Given the description of an element on the screen output the (x, y) to click on. 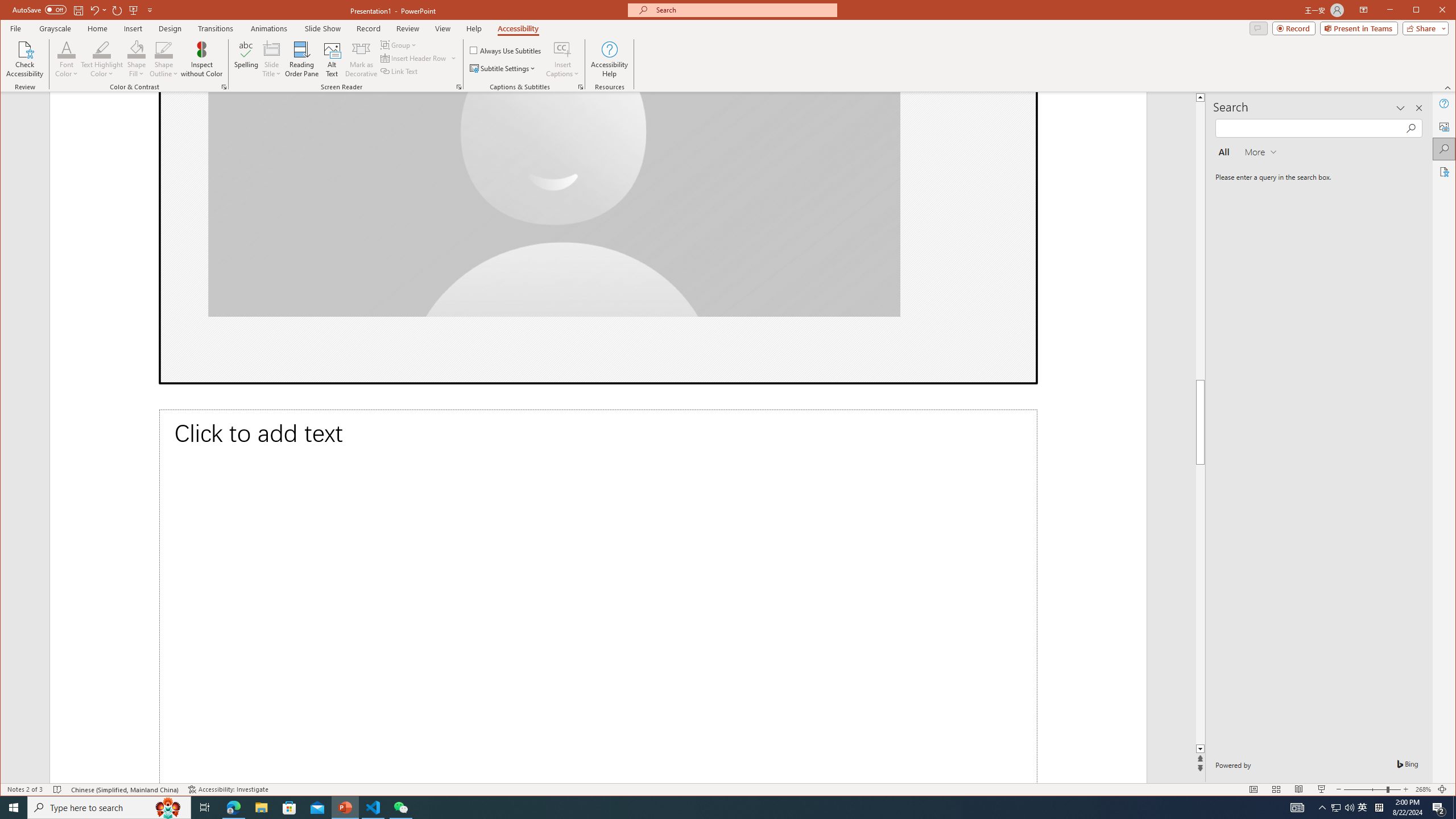
Screen Reader (458, 86)
